Given the description of an element on the screen output the (x, y) to click on. 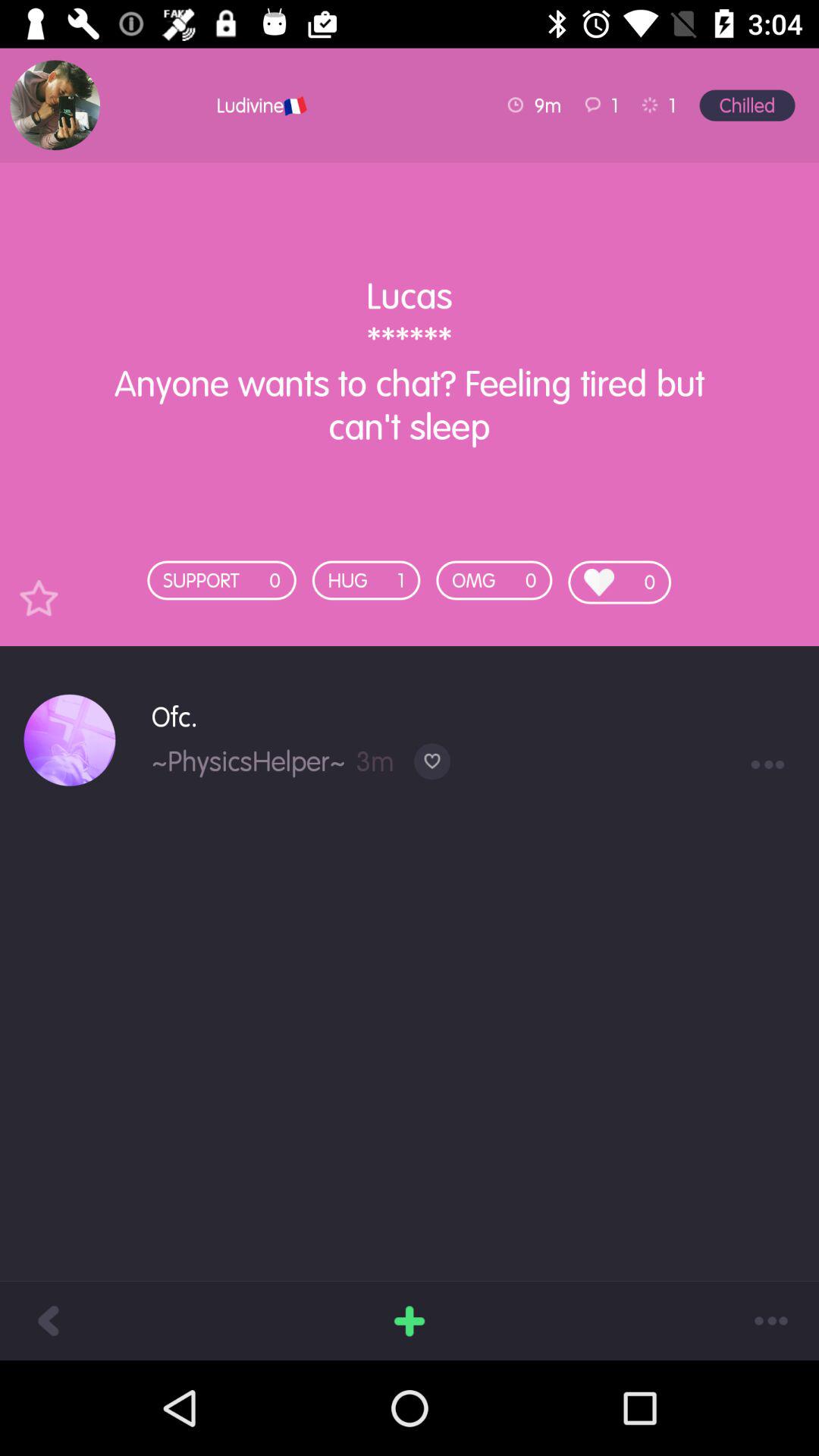
press the icon above lucas anyone wants item (55, 105)
